Given the description of an element on the screen output the (x, y) to click on. 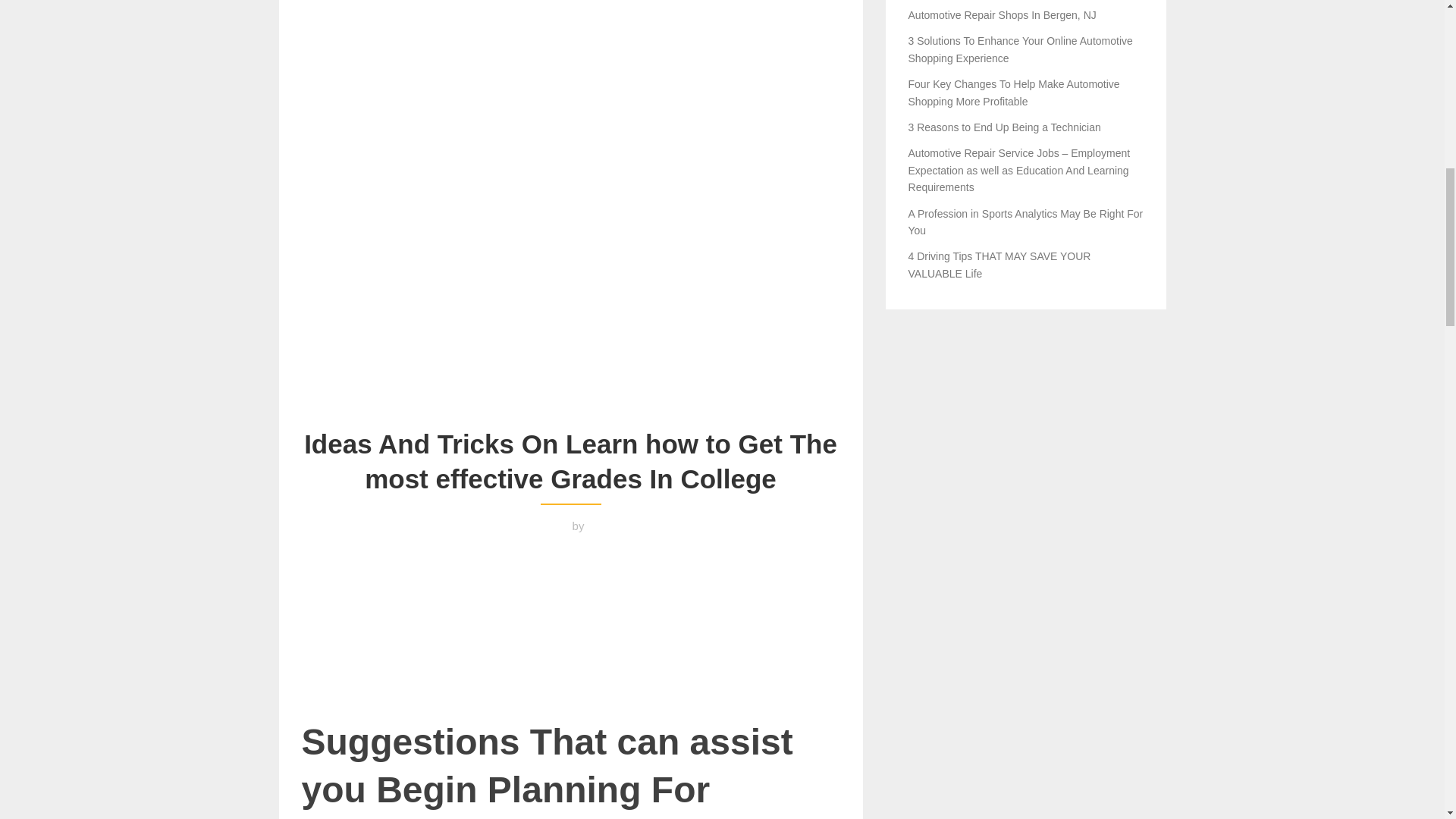
Automotive Repair Shops In Bergen, NJ (1002, 15)
4 Driving Tips THAT MAY SAVE YOUR VALUABLE Life (999, 264)
3 Reasons to End Up Being a Technician (1004, 127)
A Profession in Sports Analytics May Be Right For You (1025, 222)
